Given the description of an element on the screen output the (x, y) to click on. 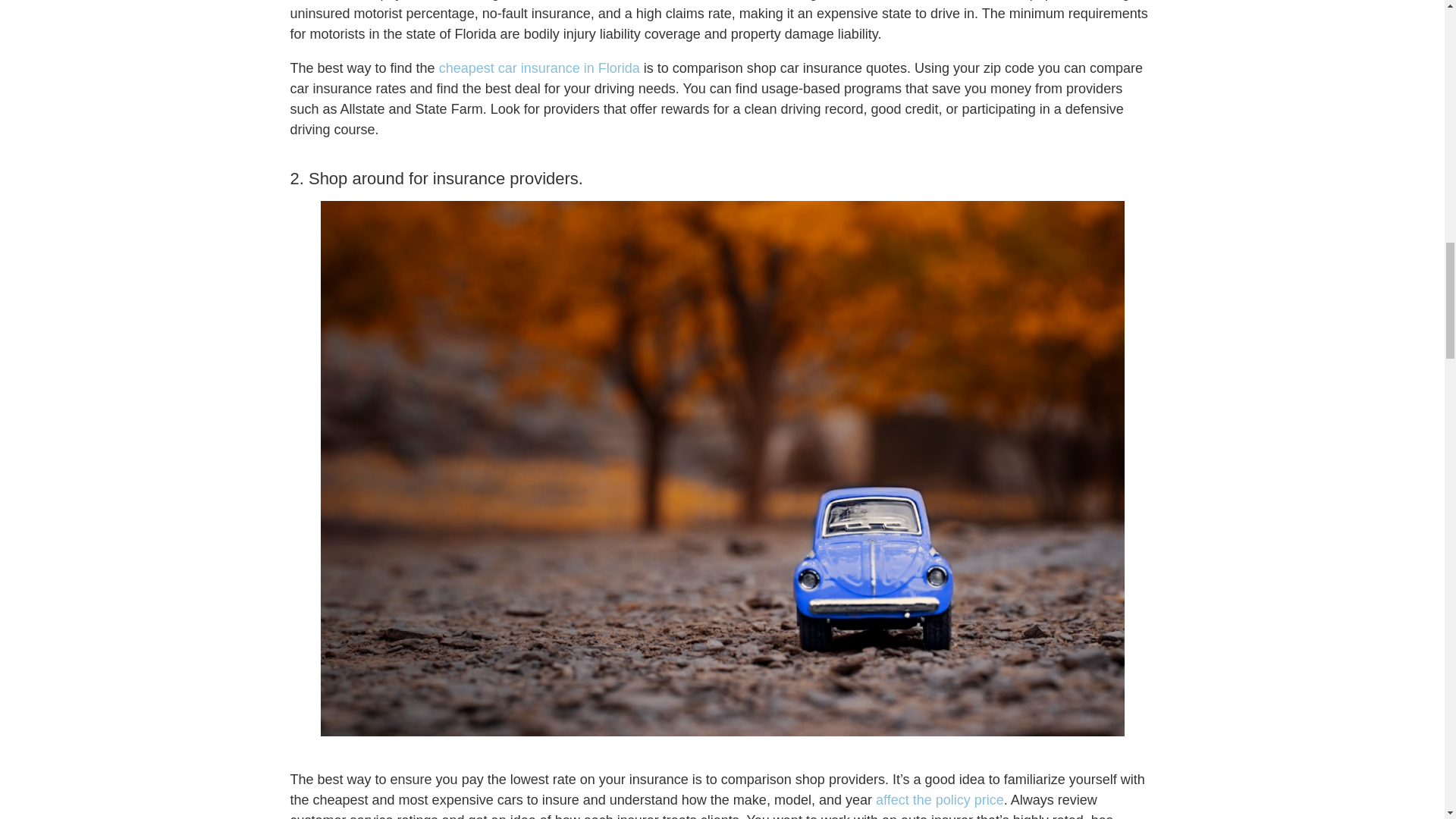
cheapest car insurance in Florida (539, 68)
affect the policy price (940, 799)
